Given the description of an element on the screen output the (x, y) to click on. 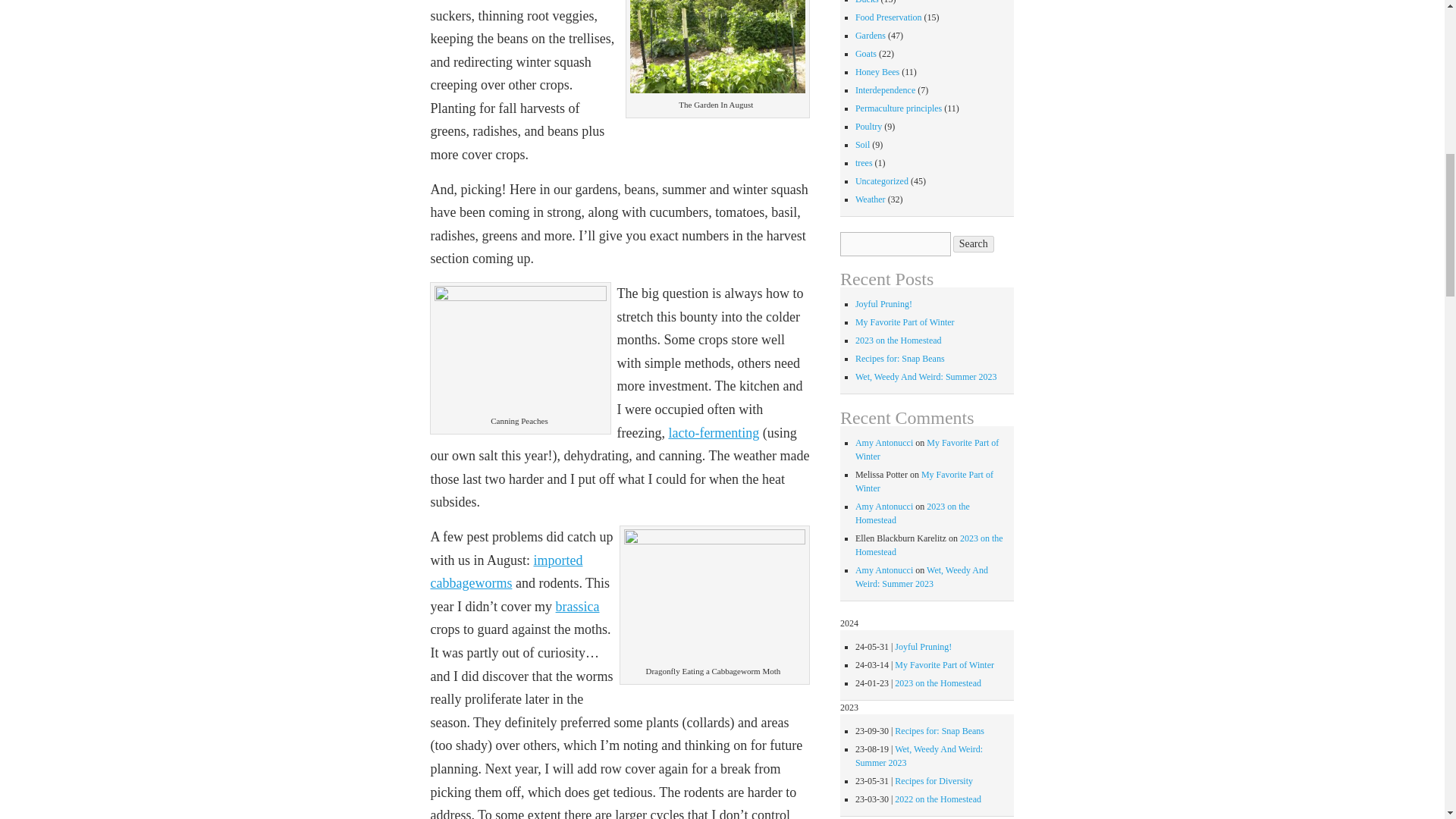
brassica (577, 606)
Search (973, 243)
imported cabbageworms (505, 571)
lacto-fermenting (713, 432)
